Given the description of an element on the screen output the (x, y) to click on. 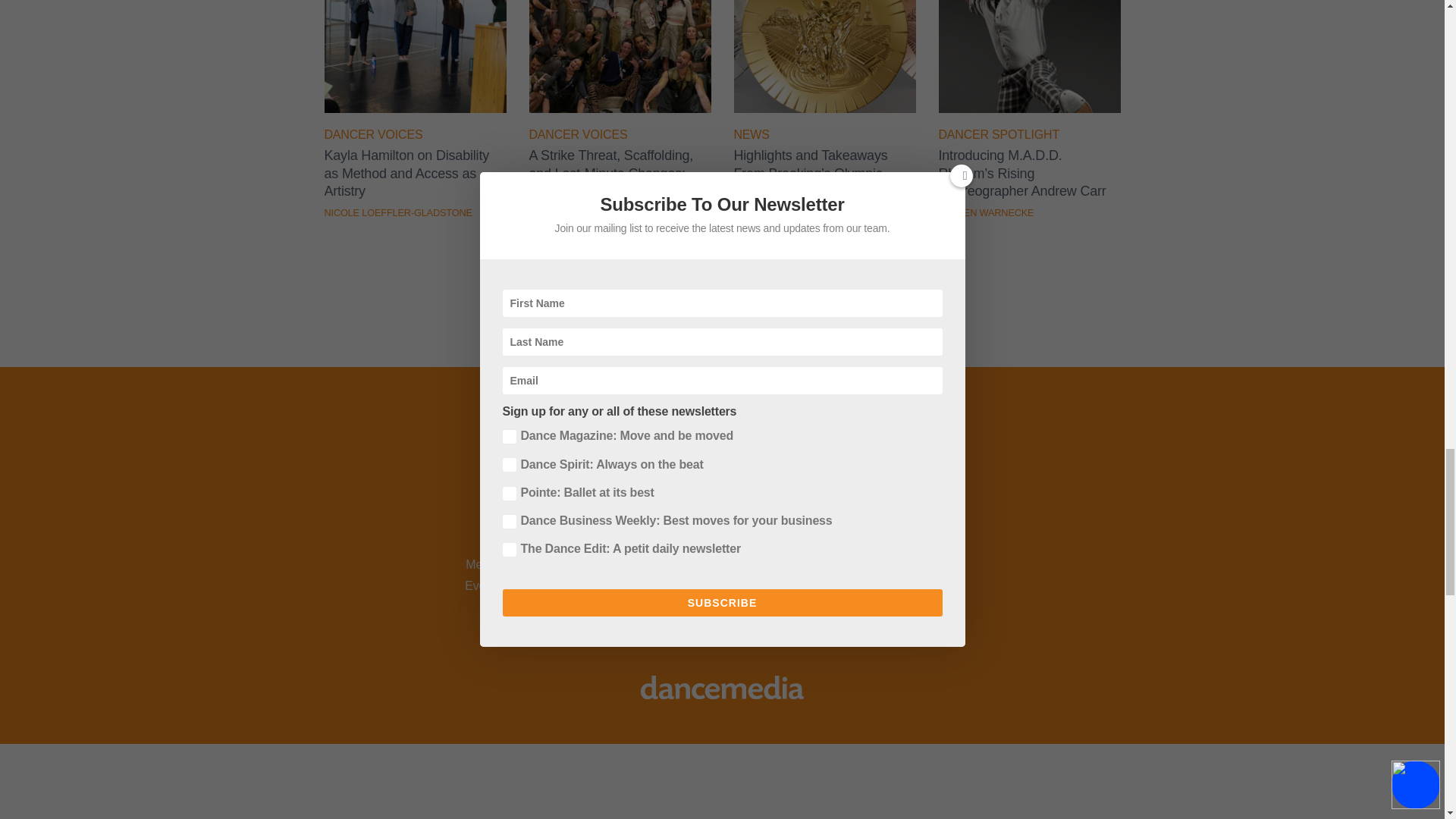
Follow on Youtube (741, 511)
Follow on Instagram (702, 511)
Follow on Pinterest (820, 511)
Follow on Facebook (623, 511)
Follow on Twitter (662, 511)
Follow on LinkedIn (780, 511)
